Given the description of an element on the screen output the (x, y) to click on. 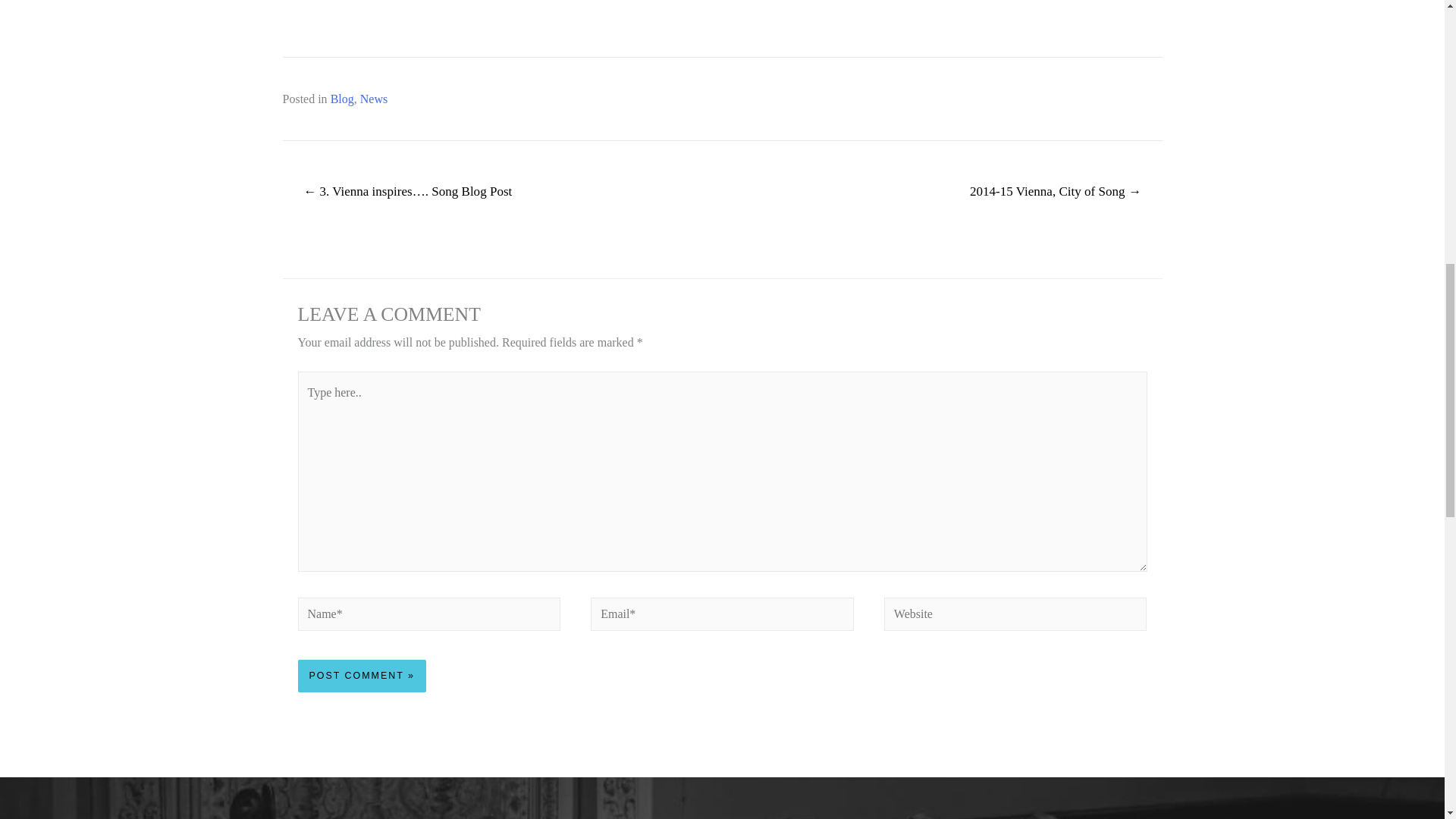
Blog (341, 98)
News (373, 98)
